Given the description of an element on the screen output the (x, y) to click on. 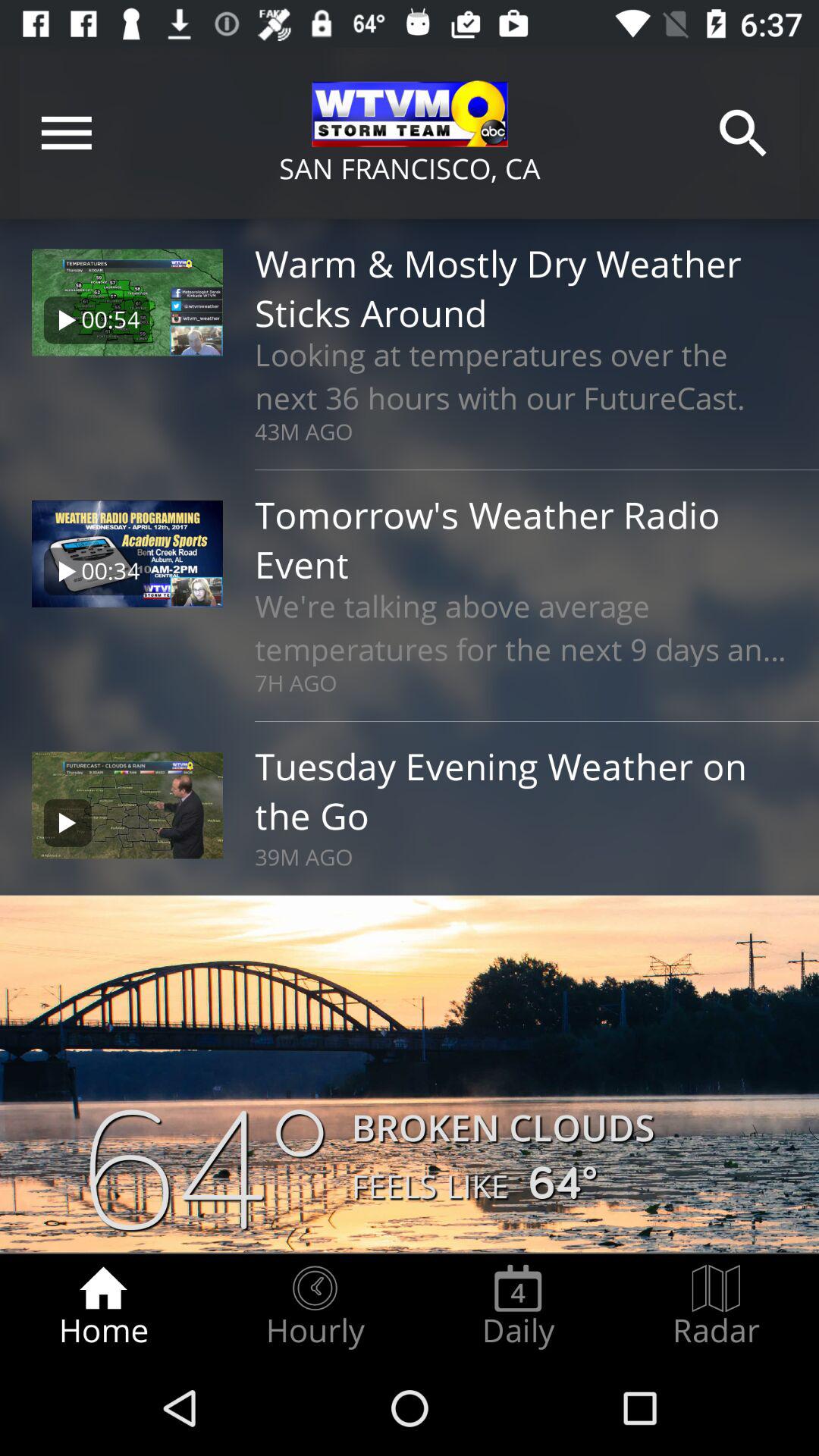
jump to the daily icon (518, 1307)
